Given the description of an element on the screen output the (x, y) to click on. 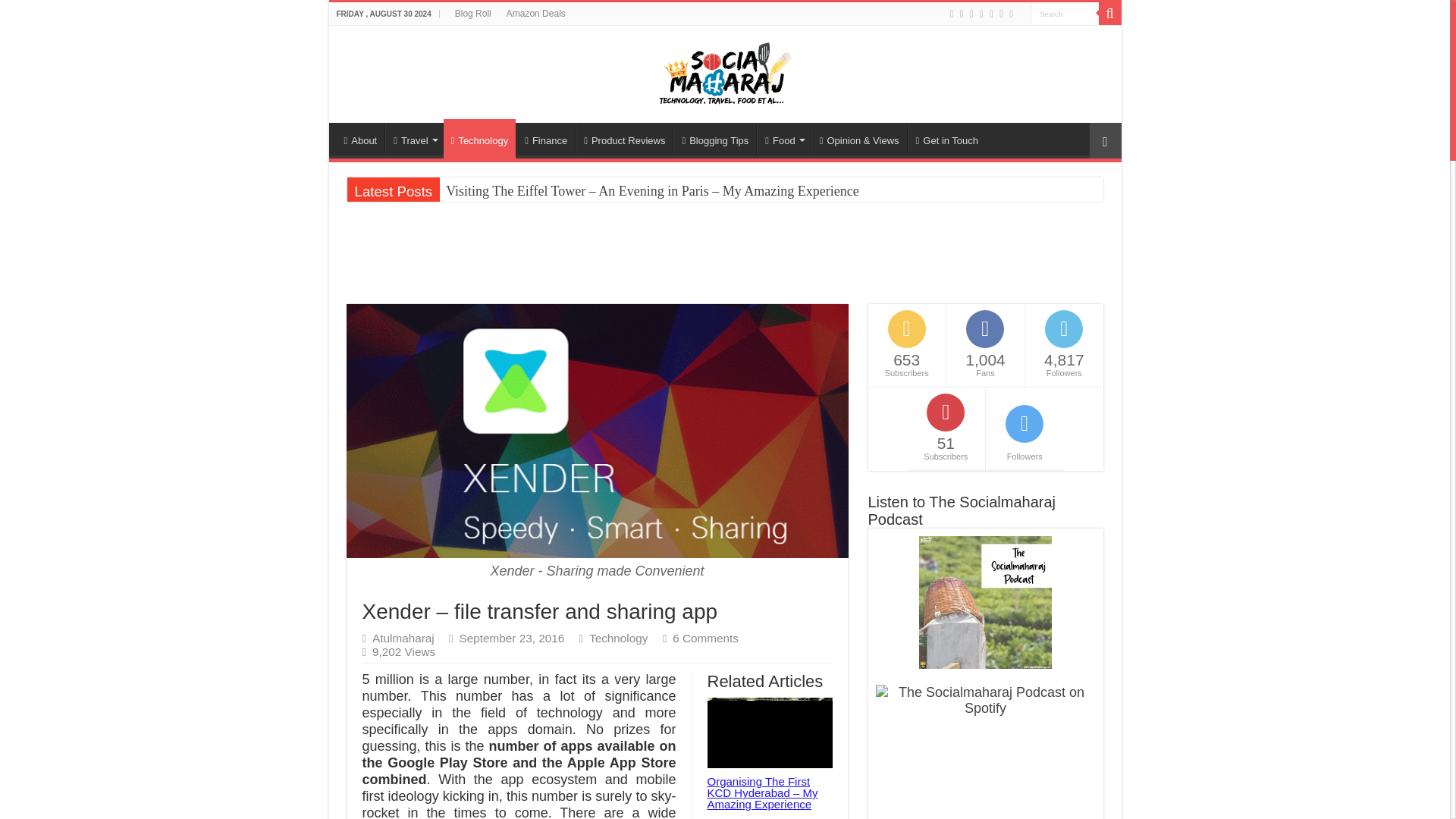
Blog Roll (472, 13)
Finance (545, 138)
Product Reviews (623, 138)
Search (1109, 13)
Get in Touch (947, 138)
Search (1063, 13)
Search (1063, 13)
Search (1063, 13)
About (360, 138)
Travel (413, 138)
